Given the description of an element on the screen output the (x, y) to click on. 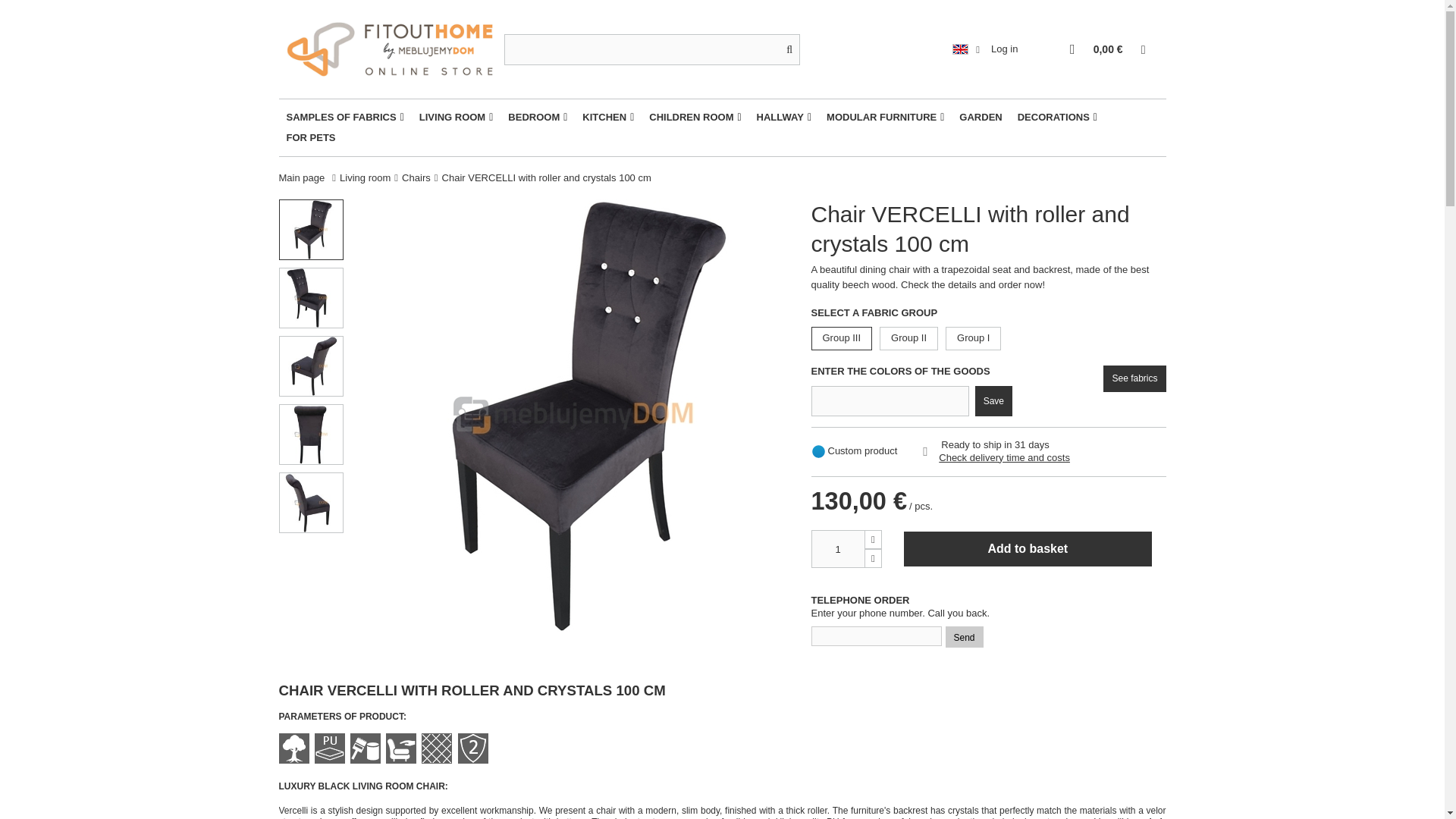
Decorations (1057, 117)
Modular furniture (885, 117)
Send (963, 636)
LIVING ROOM (456, 117)
BEDROOM (537, 117)
KITCHEN (608, 117)
SAMPLES OF FABRICS (345, 117)
1 (837, 548)
Garden (980, 117)
Living room (456, 117)
Bedroom (537, 117)
Samples of fabrics (345, 117)
Hallway (783, 117)
Kitchen (608, 117)
Children room (695, 117)
